Given the description of an element on the screen output the (x, y) to click on. 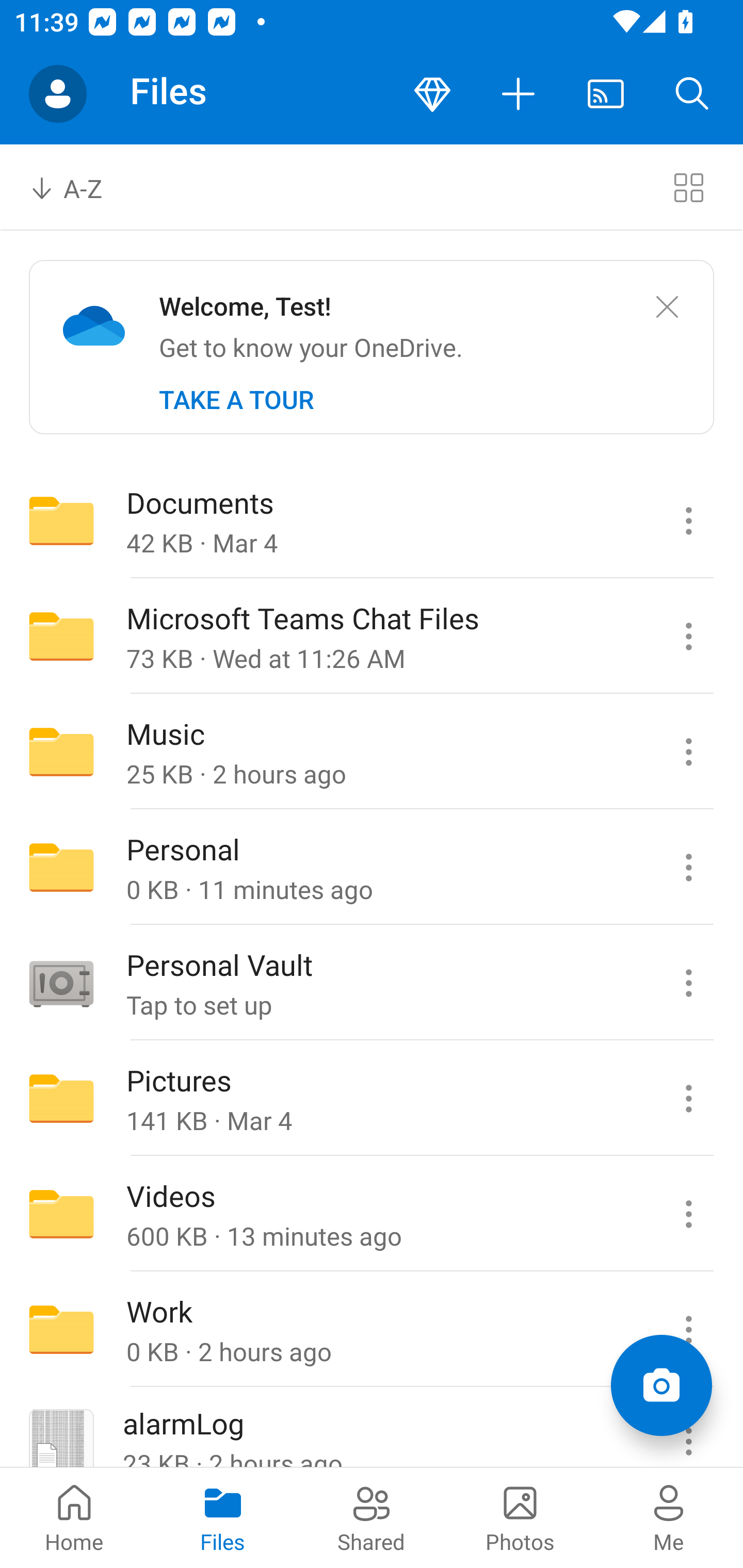
Account switcher (57, 93)
Cast. Disconnected (605, 93)
Premium button (432, 93)
More actions button (518, 93)
Search button (692, 93)
A-Z Sort by combo box, sort by name, A to Z (80, 187)
Switch to tiles view (688, 187)
Close (667, 307)
TAKE A TOUR (236, 399)
Folder Documents 42 KB · Mar 4 Documents commands (371, 520)
Documents commands (688, 520)
Microsoft Teams Chat Files commands (688, 636)
Folder Music 25 KB · 2 hours ago Music commands (371, 751)
Music commands (688, 751)
Personal commands (688, 867)
Personal Vault commands (688, 983)
Folder Pictures 141 KB · Mar 4 Pictures commands (371, 1099)
Pictures commands (688, 1099)
Videos commands (688, 1214)
Folder Work 0 KB · 2 hours ago Work commands (371, 1329)
Work commands (688, 1329)
Add items Scan (660, 1385)
alarmLog commands (688, 1427)
Home pivot Home (74, 1517)
Shared pivot Shared (371, 1517)
Photos pivot Photos (519, 1517)
Me pivot Me (668, 1517)
